Given the description of an element on the screen output the (x, y) to click on. 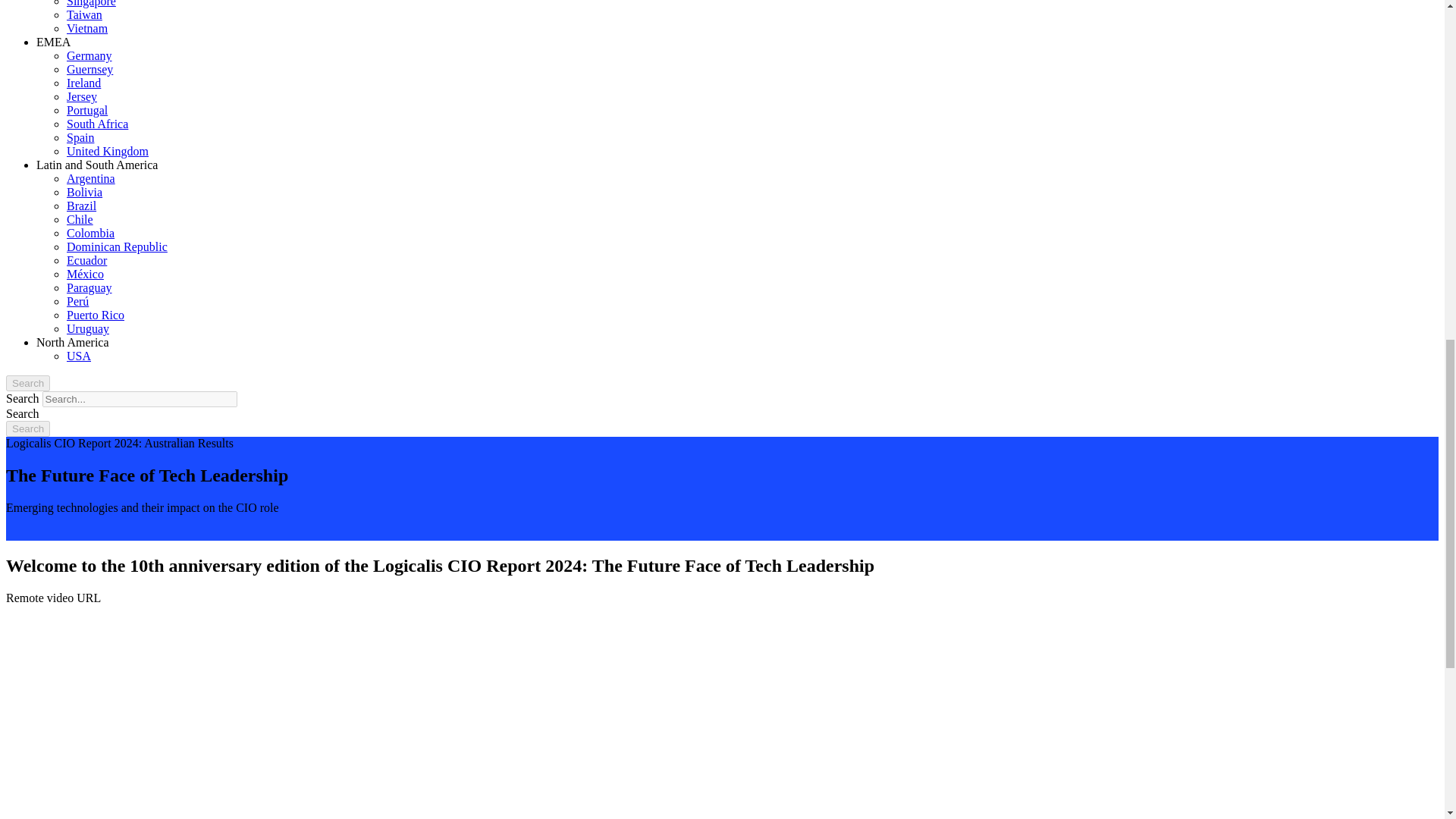
Search (27, 428)
